Given the description of an element on the screen output the (x, y) to click on. 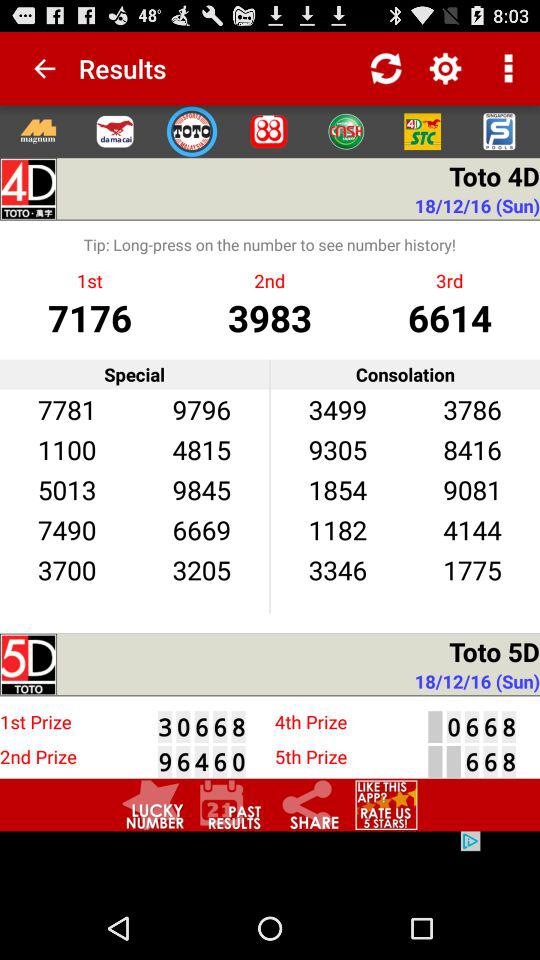
scroll to the 7781 (66, 408)
